Given the description of an element on the screen output the (x, y) to click on. 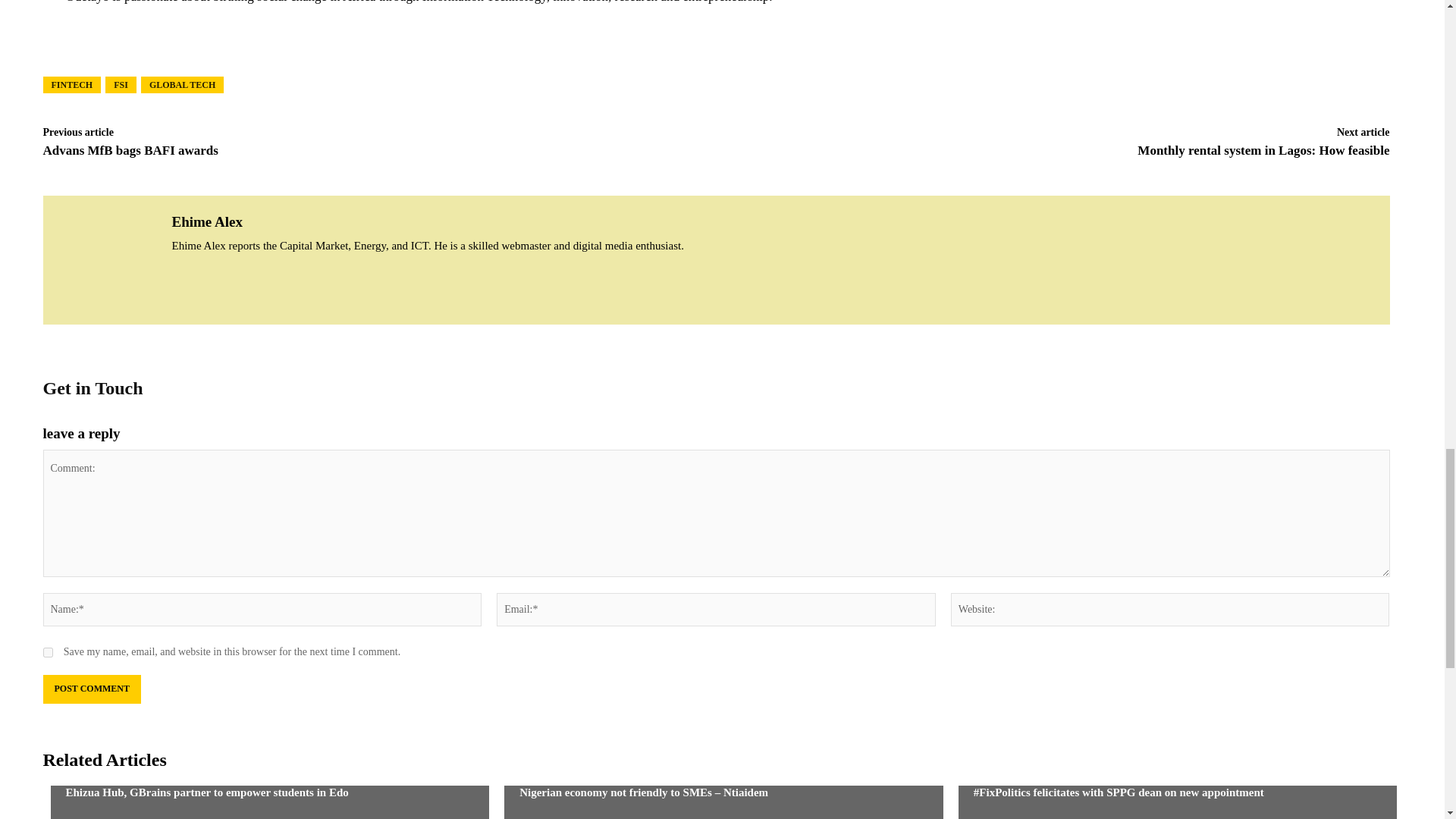
yes (47, 652)
FINTECH (71, 84)
FSI (120, 84)
Post Comment (90, 688)
